Given the description of an element on the screen output the (x, y) to click on. 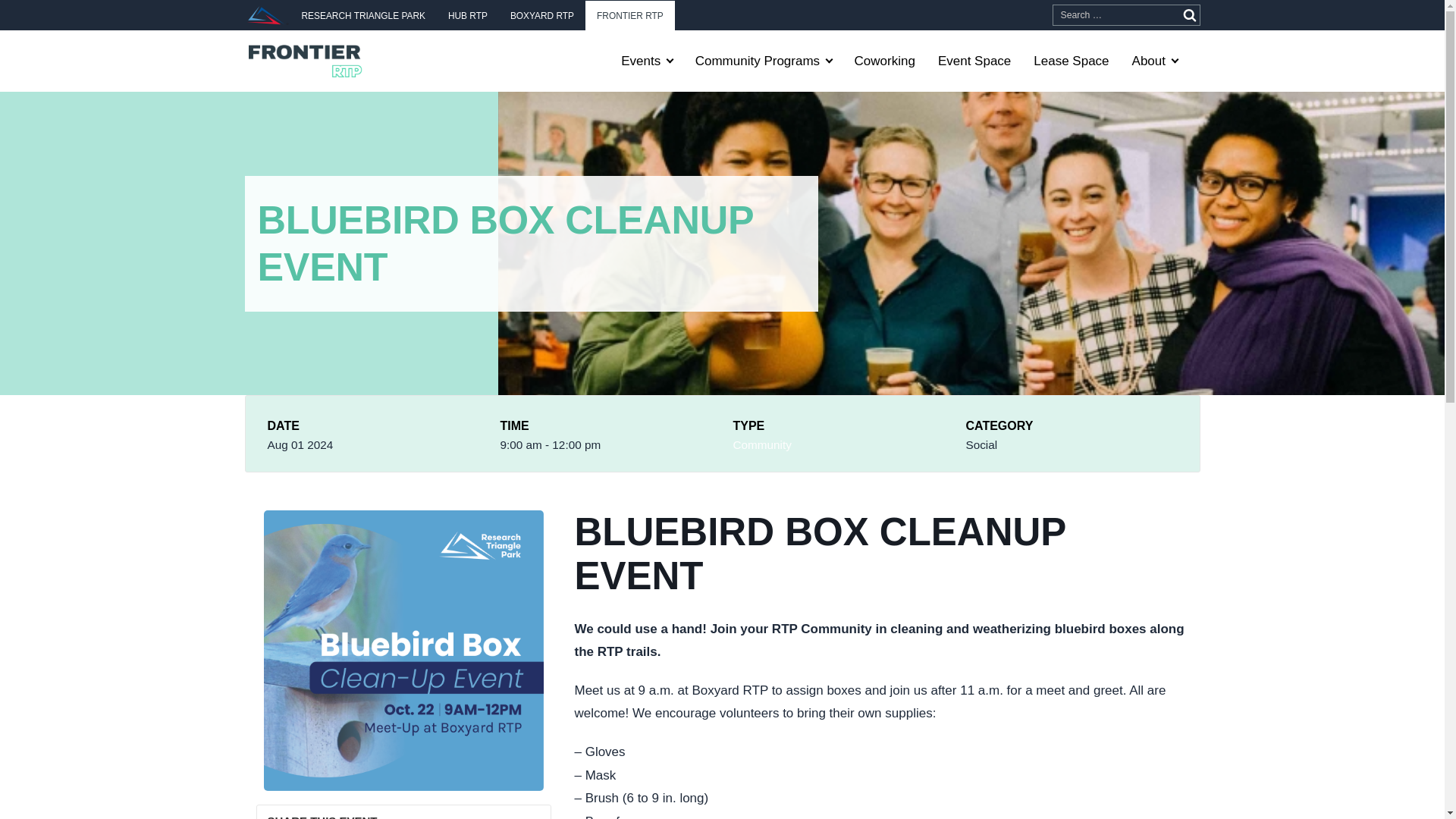
RESEARCH TRIANGLE PARK (362, 14)
Event Space (974, 60)
Community Programs (763, 60)
HUB RTP (467, 14)
Coworking (884, 60)
Lease Space (1070, 60)
About (1155, 60)
FRONTIER RTP (630, 14)
SKIP TO CONTENT (25, 20)
Submit (1189, 14)
